Given the description of an element on the screen output the (x, y) to click on. 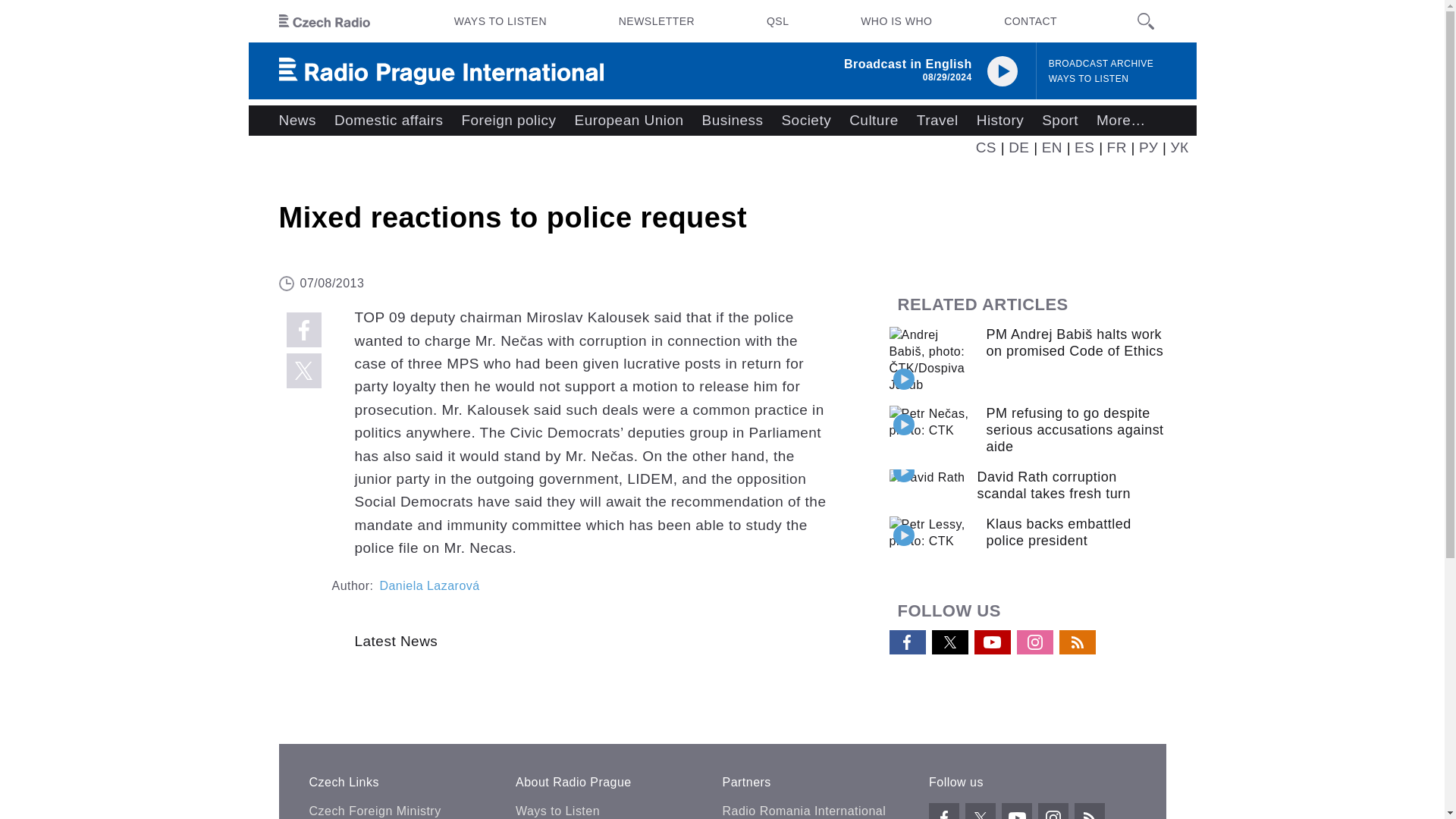
Foreign policy (507, 120)
WAYS TO LISTEN (1088, 78)
European Union (628, 120)
FR (1116, 147)
Business (733, 120)
WHO IS WHO (896, 21)
DE (1019, 147)
EN (1052, 147)
Society (805, 120)
Czech Radio (324, 21)
